Given the description of an element on the screen output the (x, y) to click on. 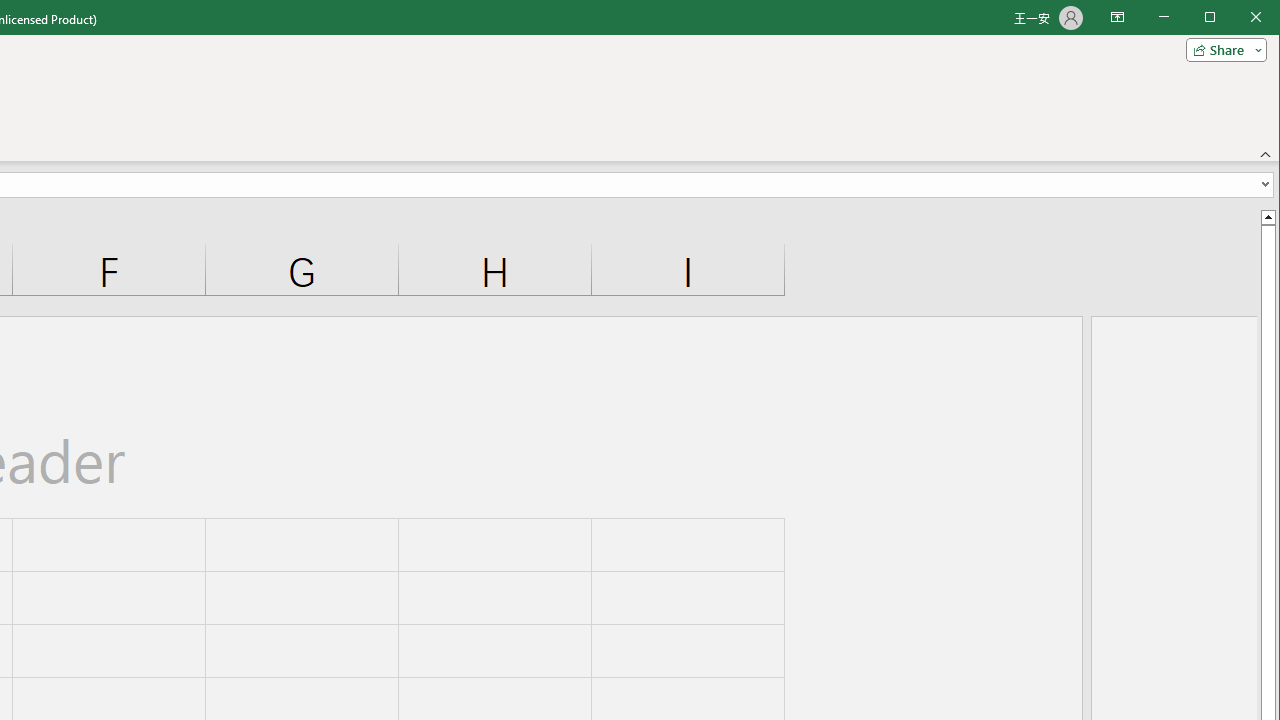
Ribbon Display Options (1117, 17)
Line up (1268, 216)
Close (1261, 18)
Collapse the Ribbon (1266, 154)
Share (1222, 49)
Minimize (1216, 18)
Maximize (1238, 18)
